Given the description of an element on the screen output the (x, y) to click on. 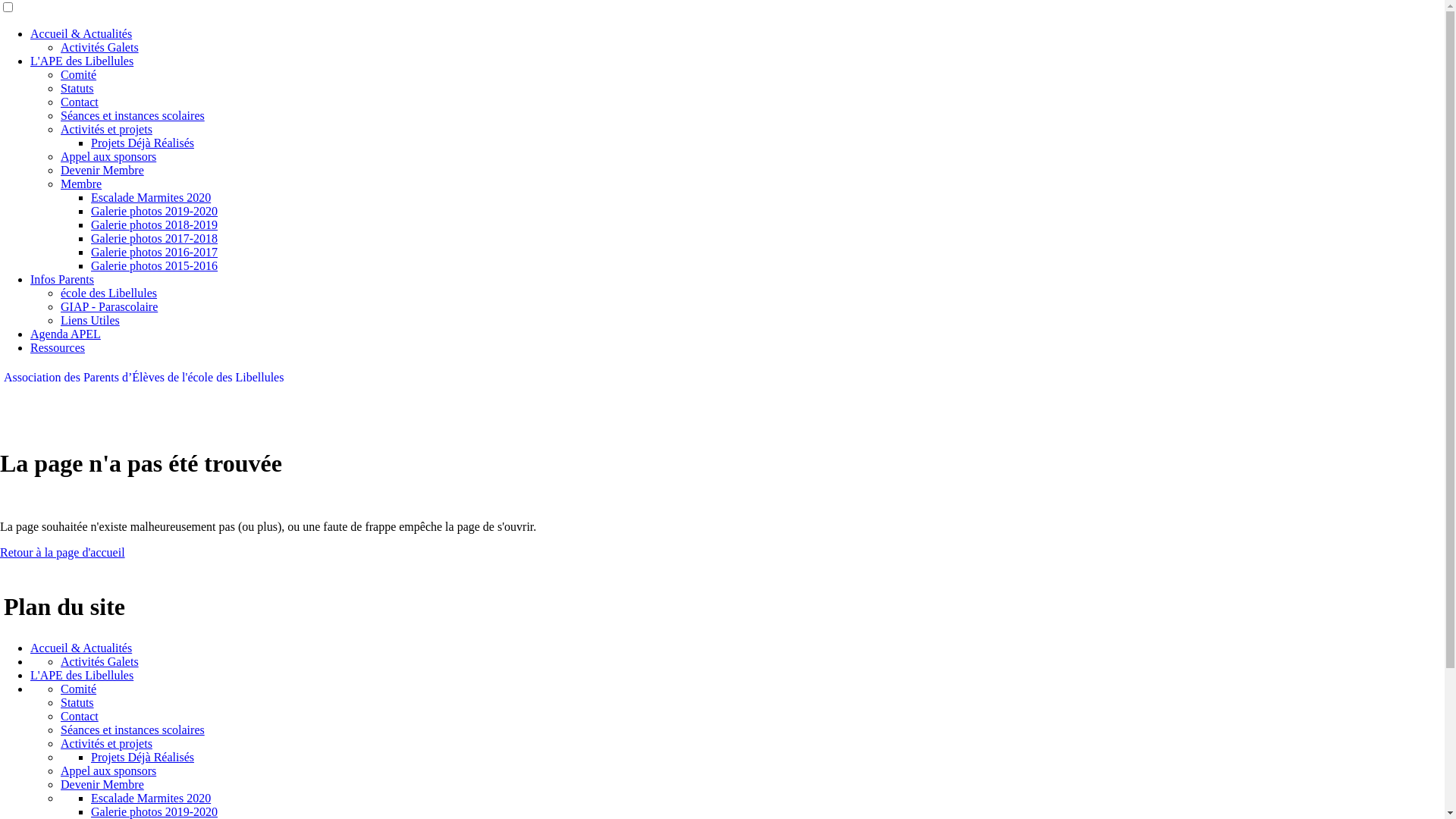
Statuts Element type: text (77, 702)
Devenir Membre Element type: text (102, 784)
Escalade Marmites 2020 Element type: text (150, 797)
Ressources Element type: text (57, 347)
Liens Utiles Element type: text (89, 319)
Galerie photos 2016-2017 Element type: text (154, 251)
Galerie photos 2019-2020 Element type: text (154, 210)
Galerie photos 2018-2019 Element type: text (154, 224)
Infos Parents Element type: text (62, 279)
Contact Element type: text (79, 715)
Appel aux sponsors Element type: text (108, 770)
Agenda APEL Element type: text (65, 333)
GIAP - Parascolaire Element type: text (108, 306)
Galerie photos 2019-2020 Element type: text (154, 811)
Escalade Marmites 2020 Element type: text (150, 197)
Statuts Element type: text (77, 87)
Galerie photos 2015-2016 Element type: text (154, 265)
Devenir Membre Element type: text (102, 169)
L'APE des Libellules Element type: text (81, 674)
Contact Element type: text (79, 101)
L'APE des Libellules Element type: text (81, 60)
Galerie photos 2017-2018 Element type: text (154, 238)
Membre Element type: text (80, 183)
Appel aux sponsors Element type: text (108, 156)
